Given the description of an element on the screen output the (x, y) to click on. 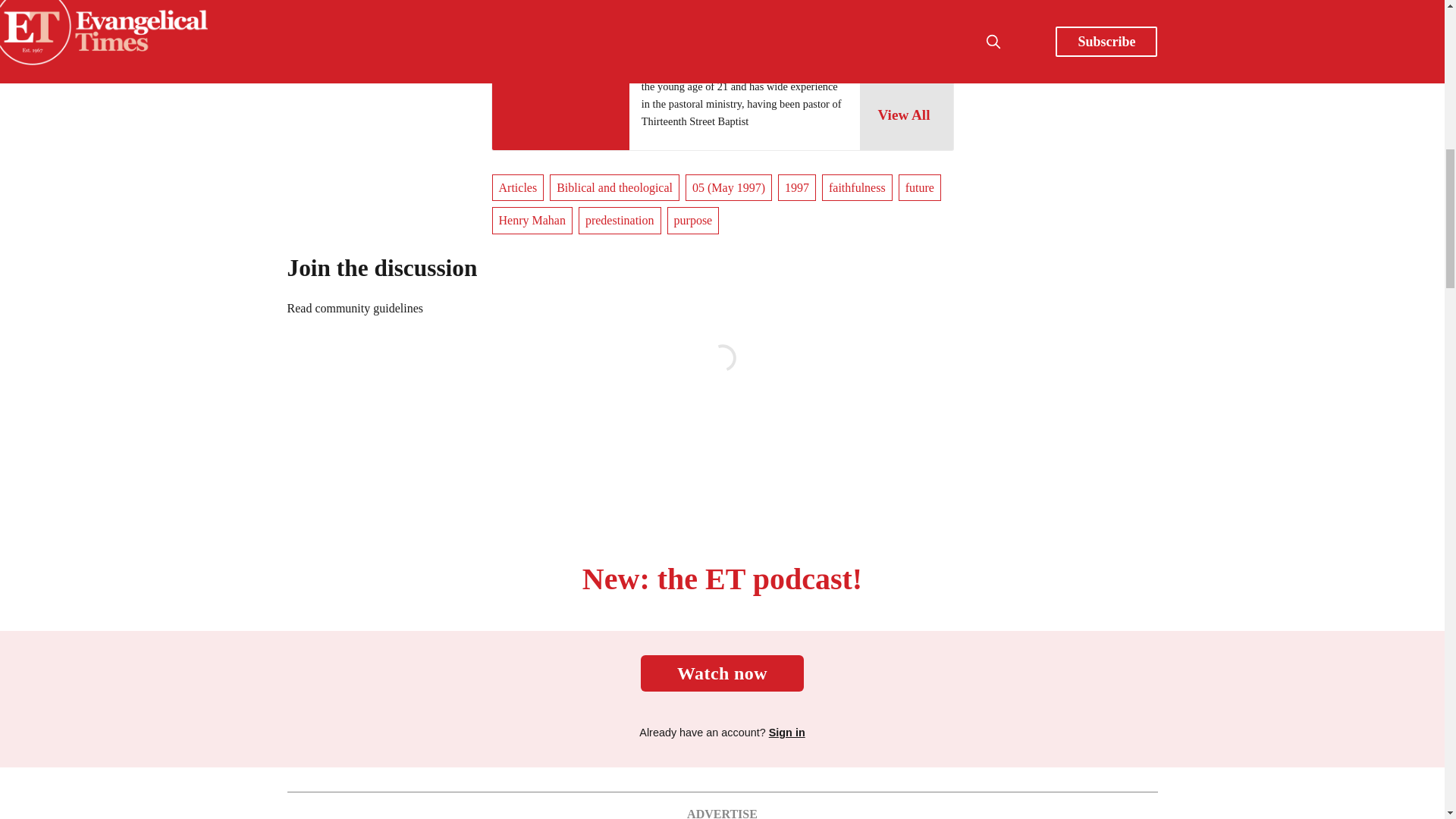
Read community guidelines (354, 308)
future (919, 187)
Biblical and theological (614, 187)
Articles (517, 187)
Henry Mahan (532, 220)
Henry Mahan (678, 29)
1997 (796, 187)
purpose (692, 220)
faithfulness (857, 187)
View All (905, 115)
